Given the description of an element on the screen output the (x, y) to click on. 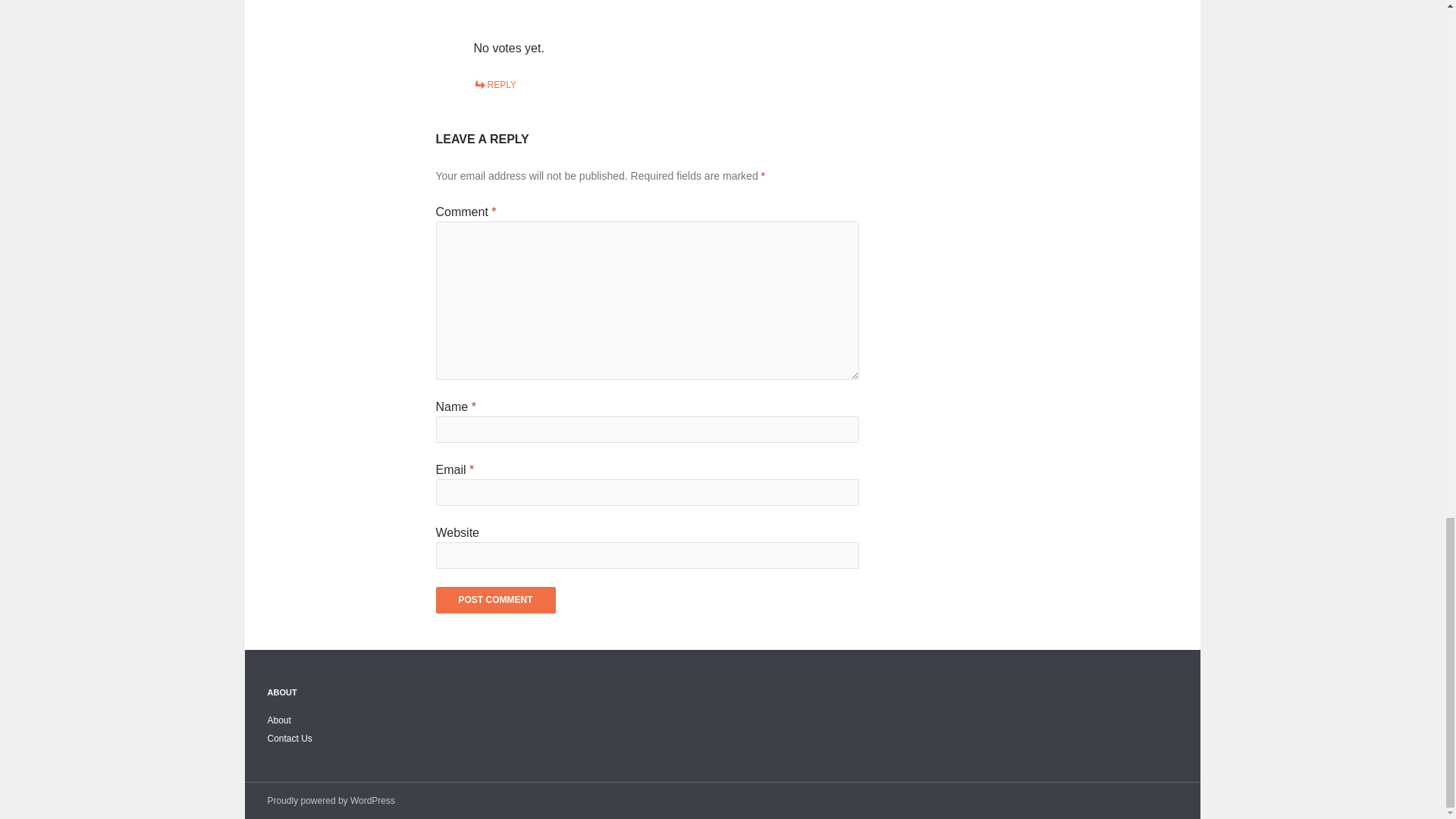
Post Comment (494, 600)
